Given the description of an element on the screen output the (x, y) to click on. 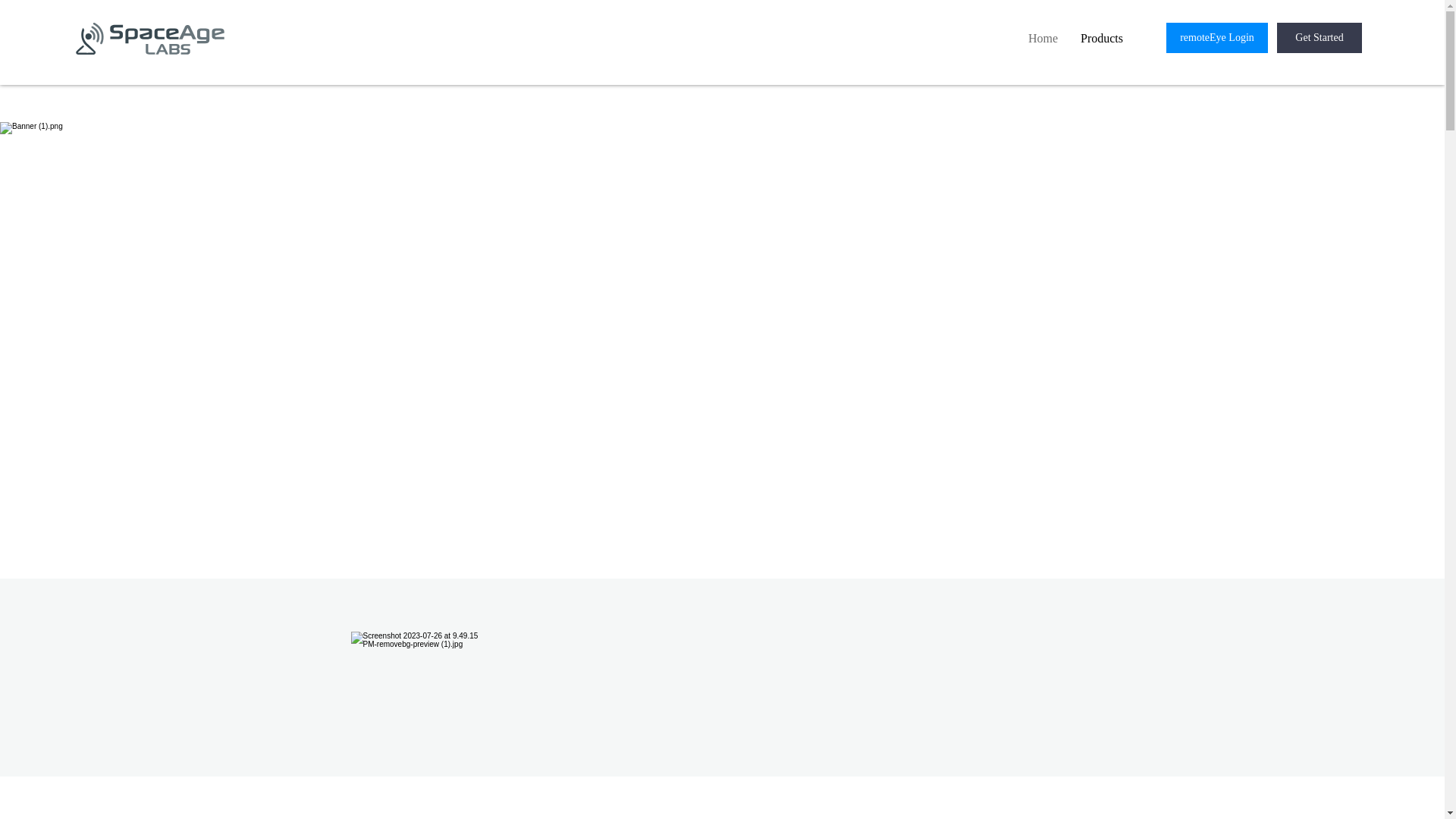
Get Started (1318, 37)
Home (1042, 38)
Products (1101, 38)
remoteEye Login (1217, 37)
